Given the description of an element on the screen output the (x, y) to click on. 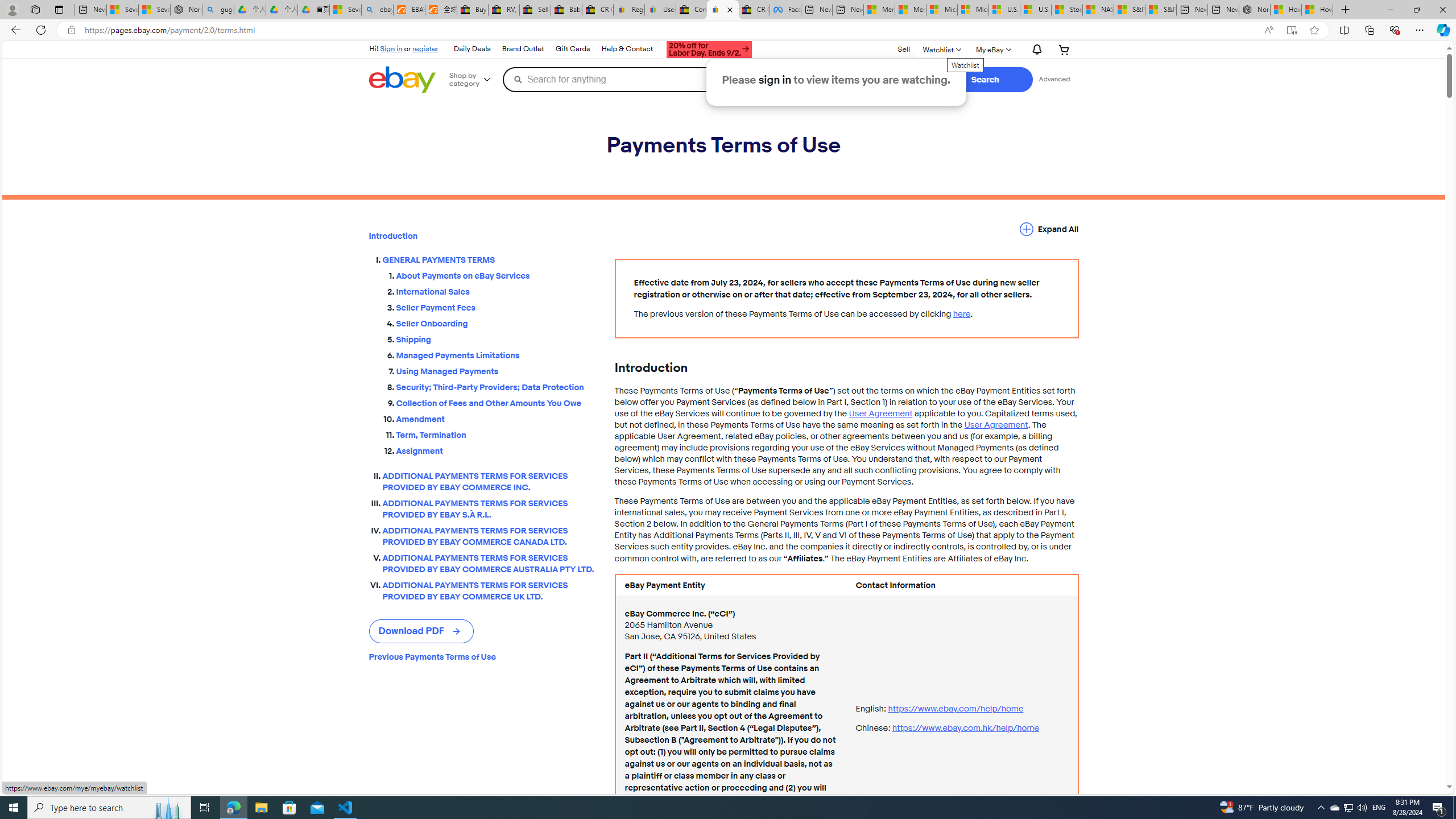
Sell worldwide with eBay (535, 9)
Collection of Fees and Other Amounts You Owe (496, 401)
Shipping (496, 337)
Daily Deals (471, 49)
Term, Termination (496, 435)
Using Managed Payments (496, 369)
Seller Onboarding (496, 321)
Managed Payments Limitations (496, 355)
